Given the description of an element on the screen output the (x, y) to click on. 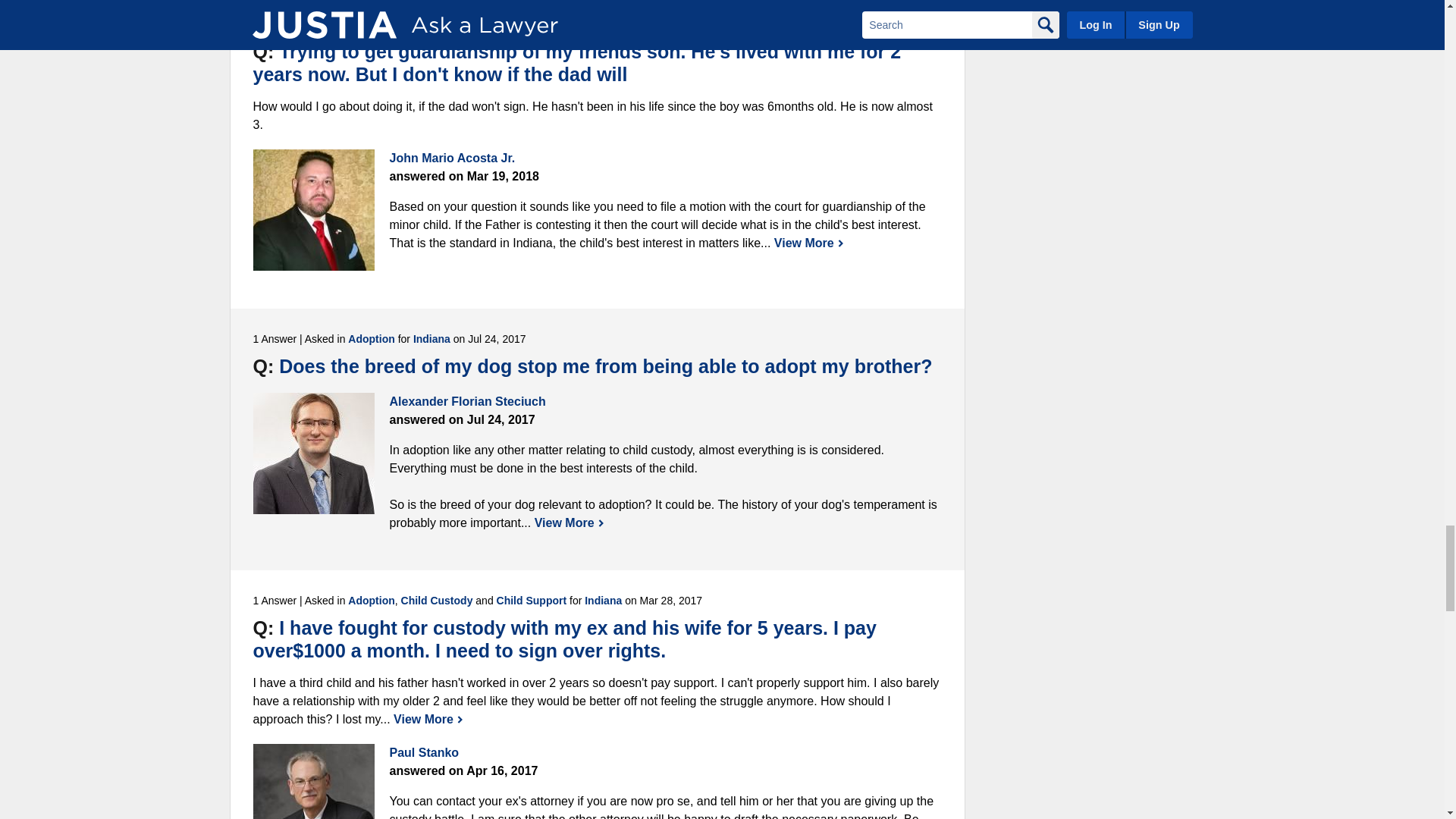
John Mario Acosta Jr. (313, 210)
Paul Stanko (313, 781)
Alexander Florian Steciuch (313, 453)
